Given the description of an element on the screen output the (x, y) to click on. 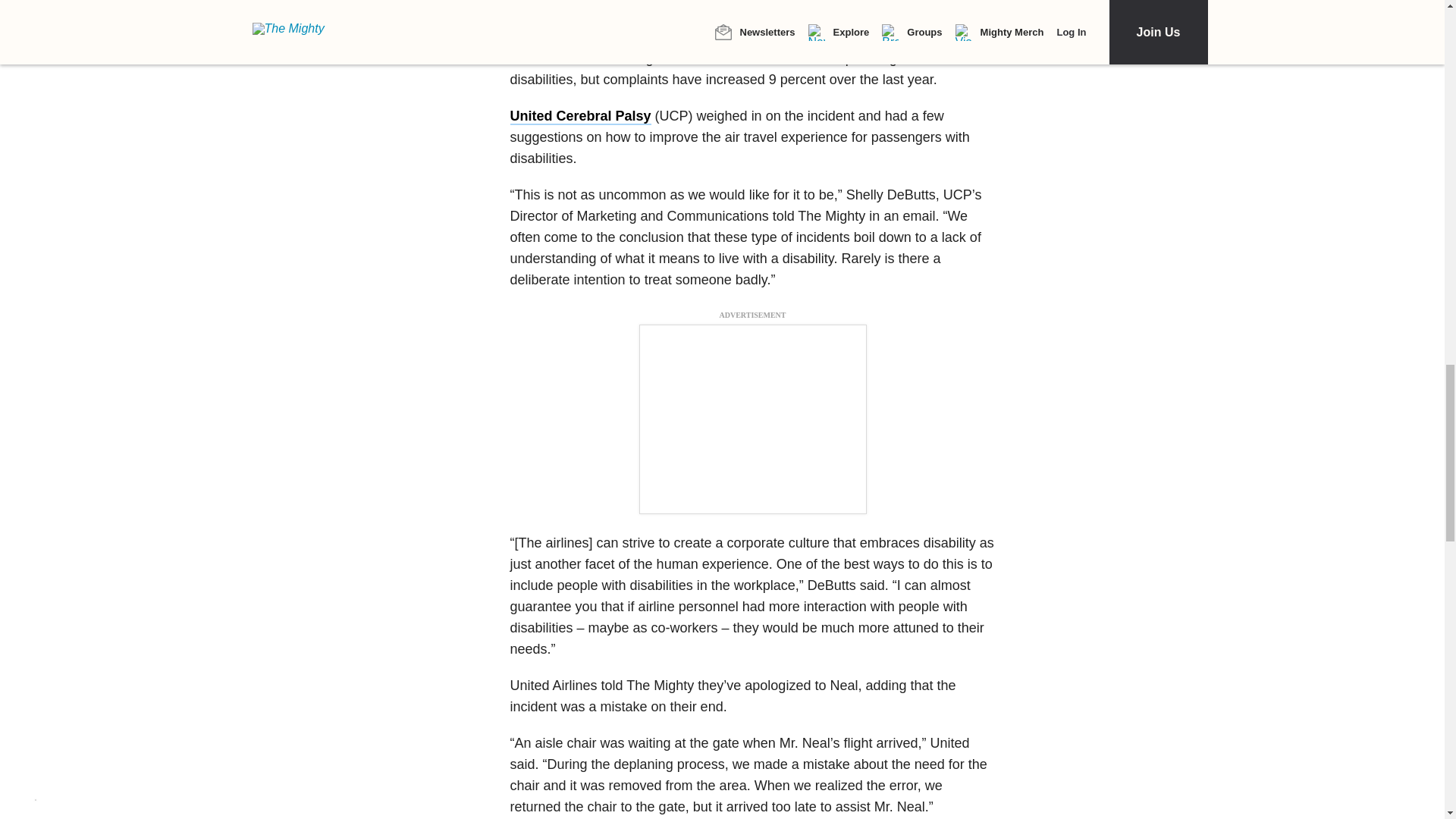
United Cerebral Palsy (579, 116)
